Given the description of an element on the screen output the (x, y) to click on. 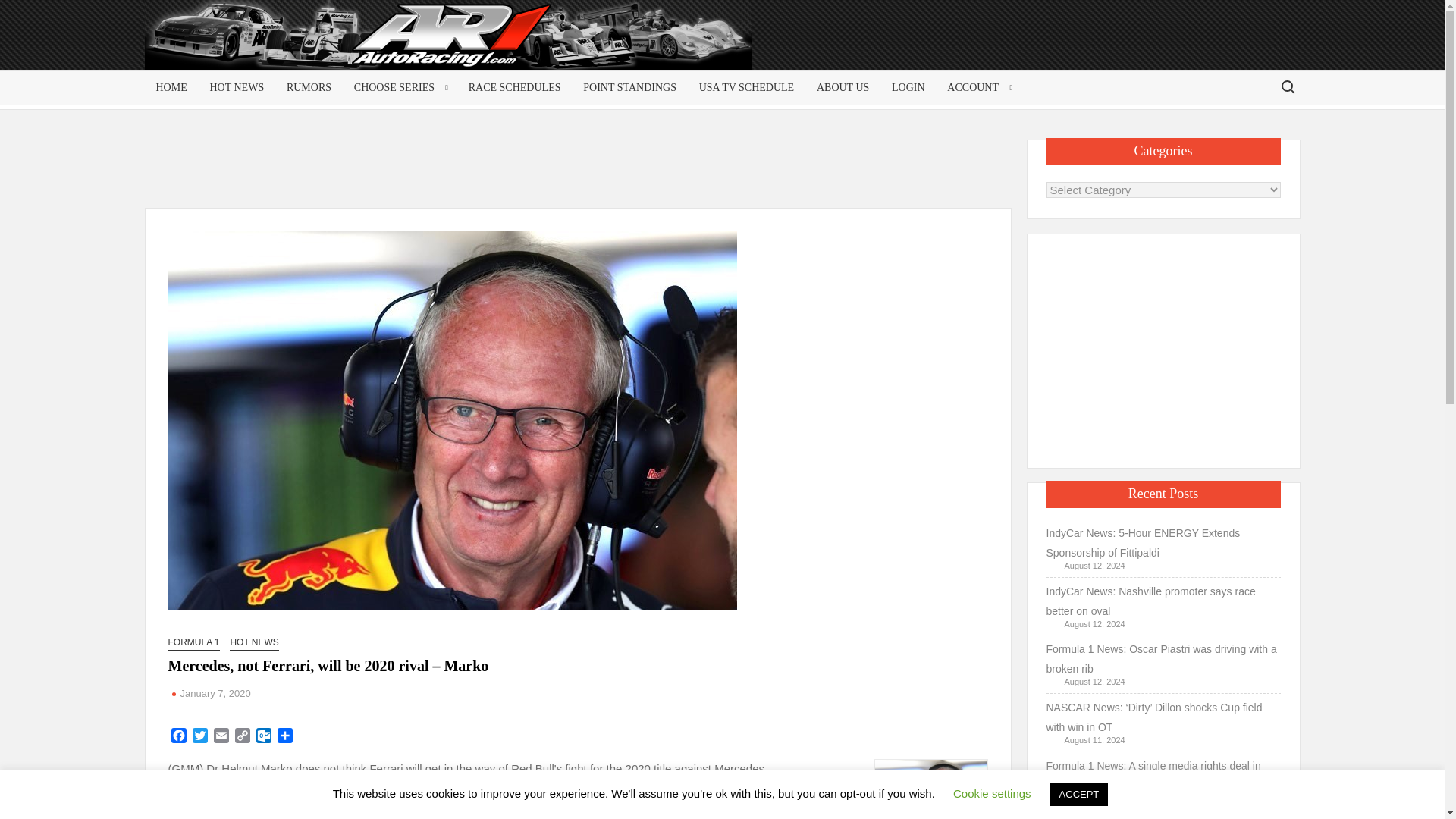
RUMORS (308, 87)
Advertisement (1178, 46)
Copy Link (242, 737)
Advertisement (1162, 348)
CHOOSE SERIES (399, 87)
Email (221, 737)
AUTORACING1.COM (289, 40)
HOT NEWS (236, 87)
Advertisement (580, 173)
Outlook.com (264, 737)
